Given the description of an element on the screen output the (x, y) to click on. 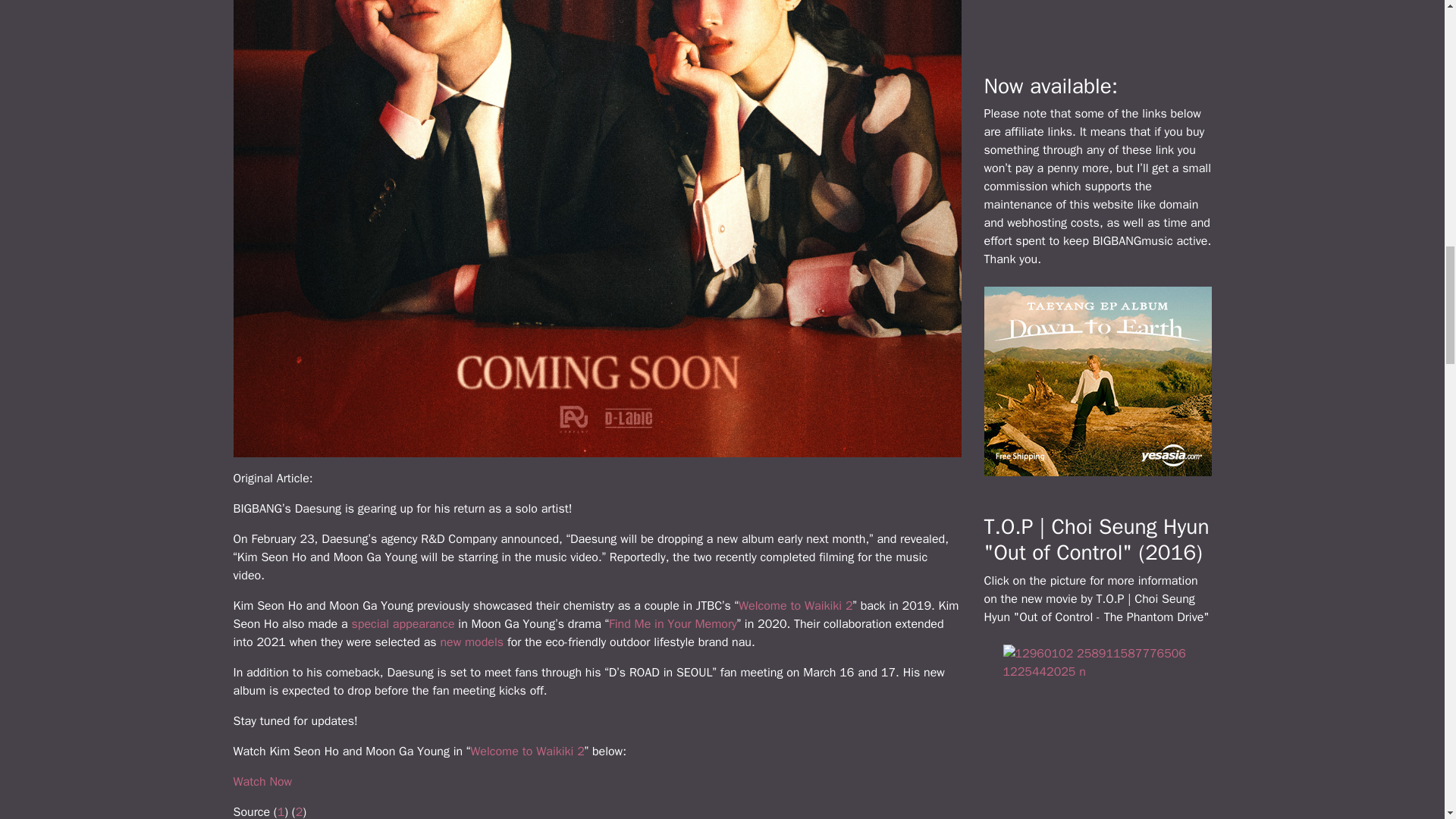
new models (471, 642)
Find Me in Your Memory (672, 623)
Welcome to Waikiki 2 (795, 605)
Watch Now (262, 781)
special appearance (402, 623)
Welcome to Waikiki 2 (527, 751)
